Given the description of an element on the screen output the (x, y) to click on. 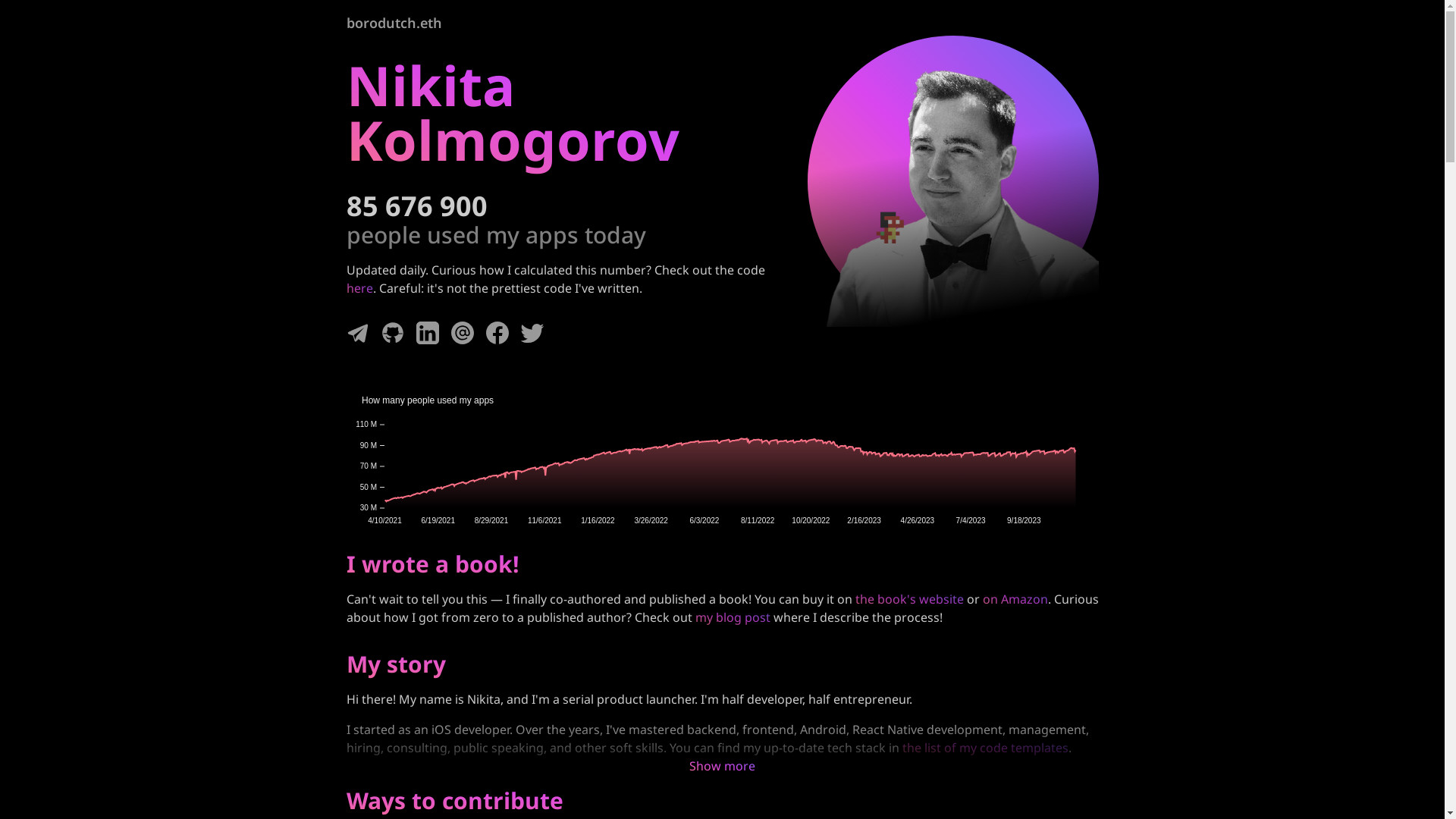
here Element type: text (358, 287)
Show more Element type: text (722, 765)
my blog post Element type: text (731, 616)
the list of my code templates Element type: text (985, 747)
the book's website Element type: text (909, 598)
on Amazon Element type: text (1015, 598)
